Given the description of an element on the screen output the (x, y) to click on. 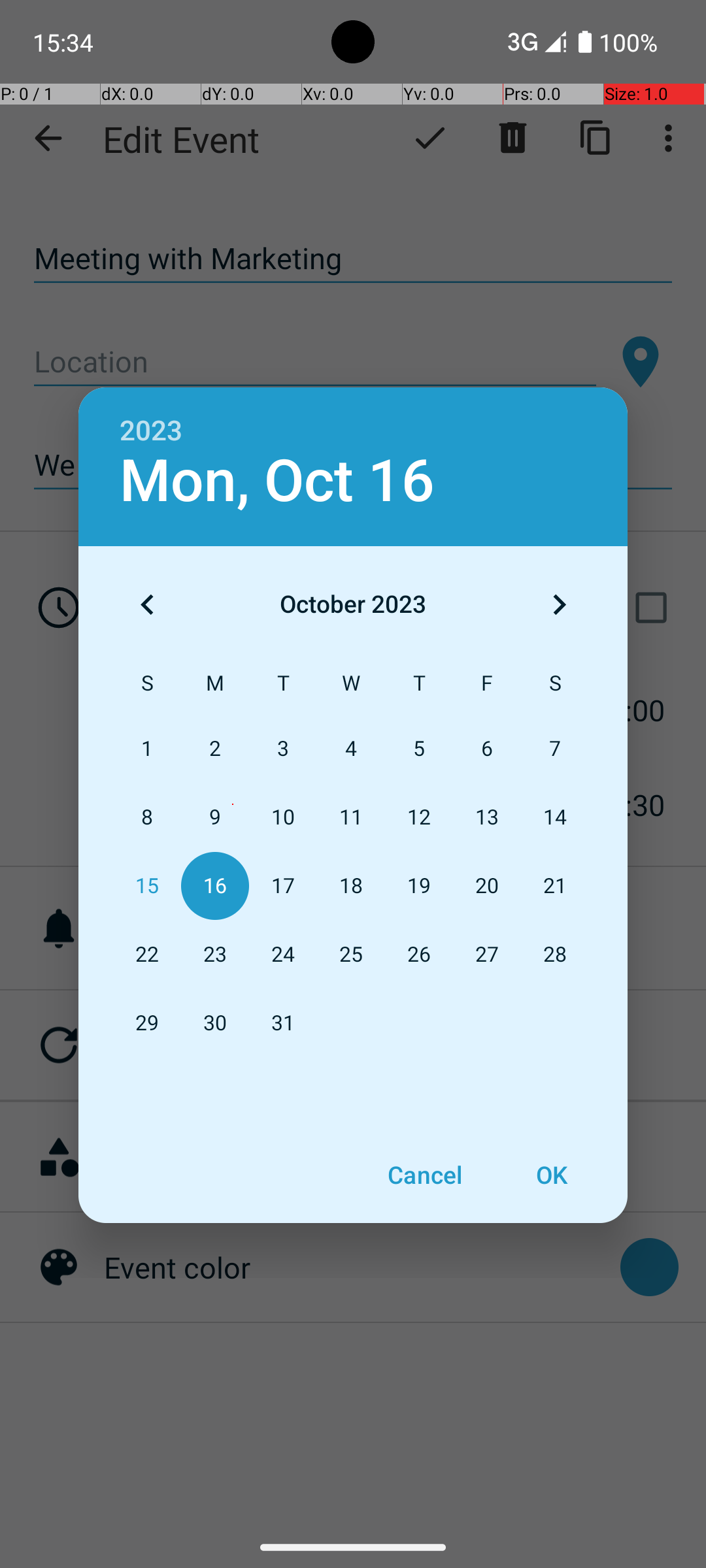
Mon, Oct 16 Element type: android.widget.TextView (276, 480)
